Given the description of an element on the screen output the (x, y) to click on. 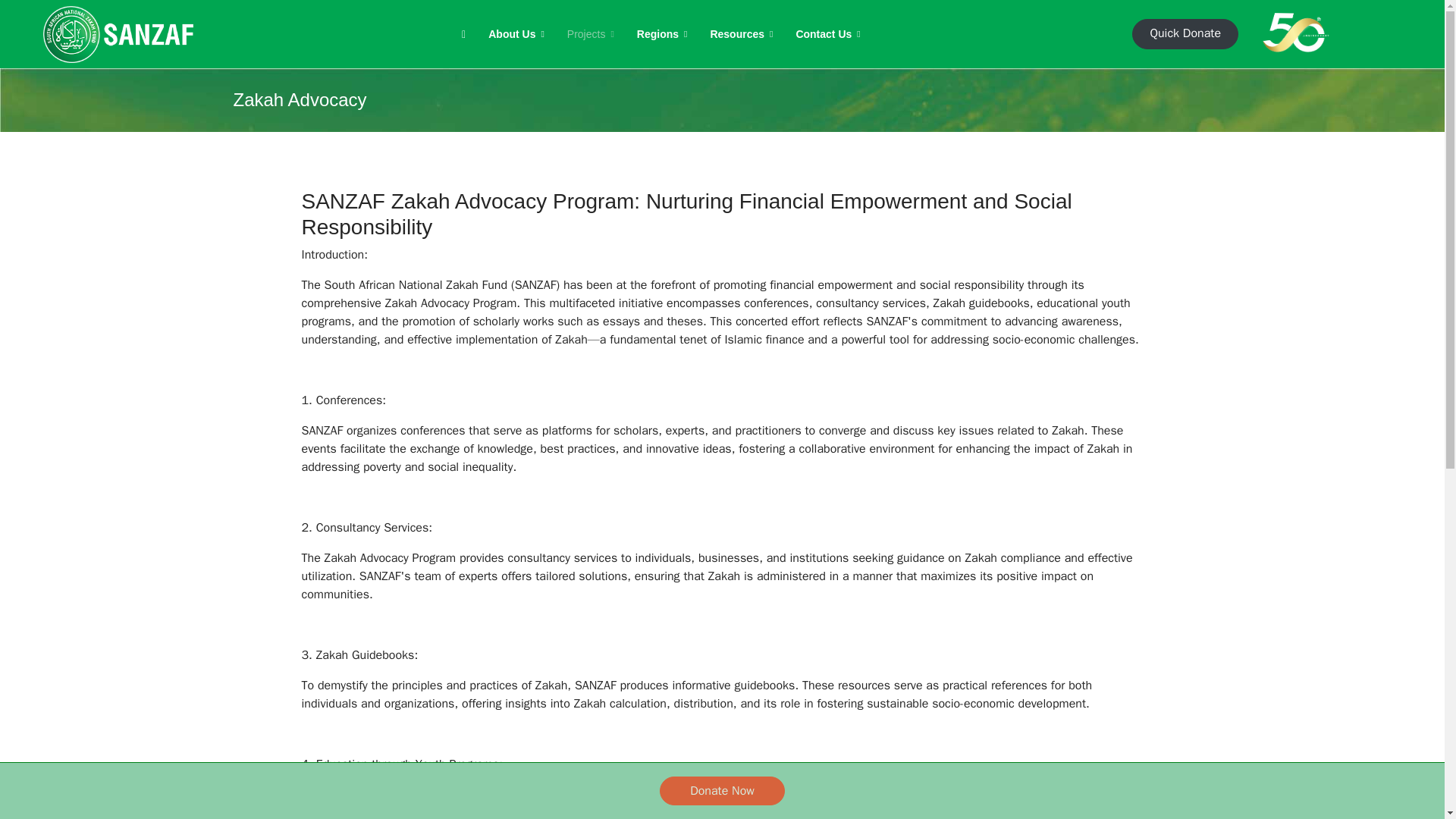
Projects (591, 33)
Donate Now with Payfast (721, 790)
Regions (662, 33)
About Us (516, 33)
Quick Donate (1185, 33)
